Given the description of an element on the screen output the (x, y) to click on. 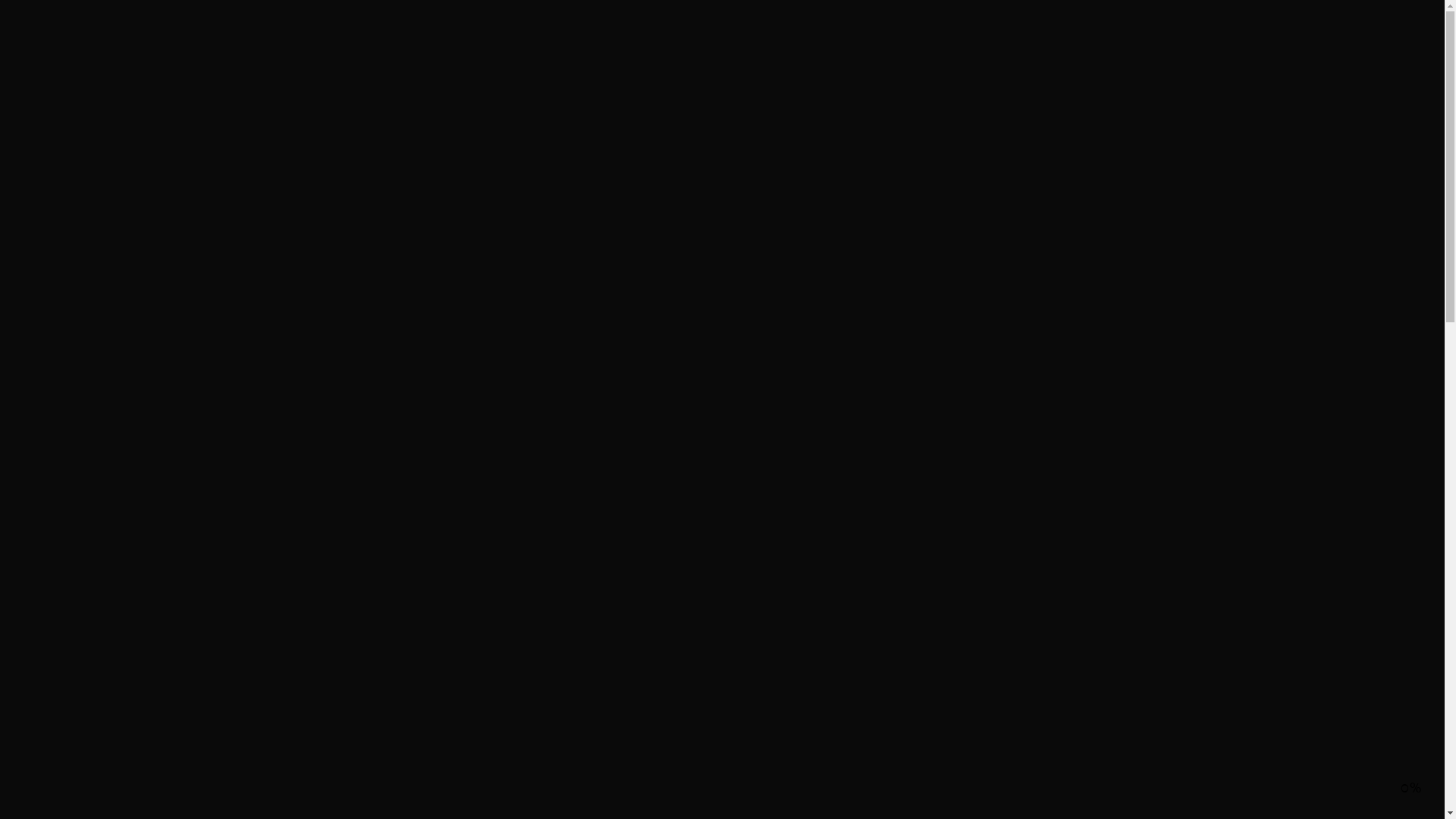
Espace Choristes Element type: text (92, 631)
Accueil Vaya Con Dios Element type: text (109, 600)
Vaya Con Dios accueille de nouveaux choristes Element type: text (193, 163)
Suivez-nous sur Facebook Element type: text (86, 282)
Historique du groupe Element type: text (105, 646)
